Given the description of an element on the screen output the (x, y) to click on. 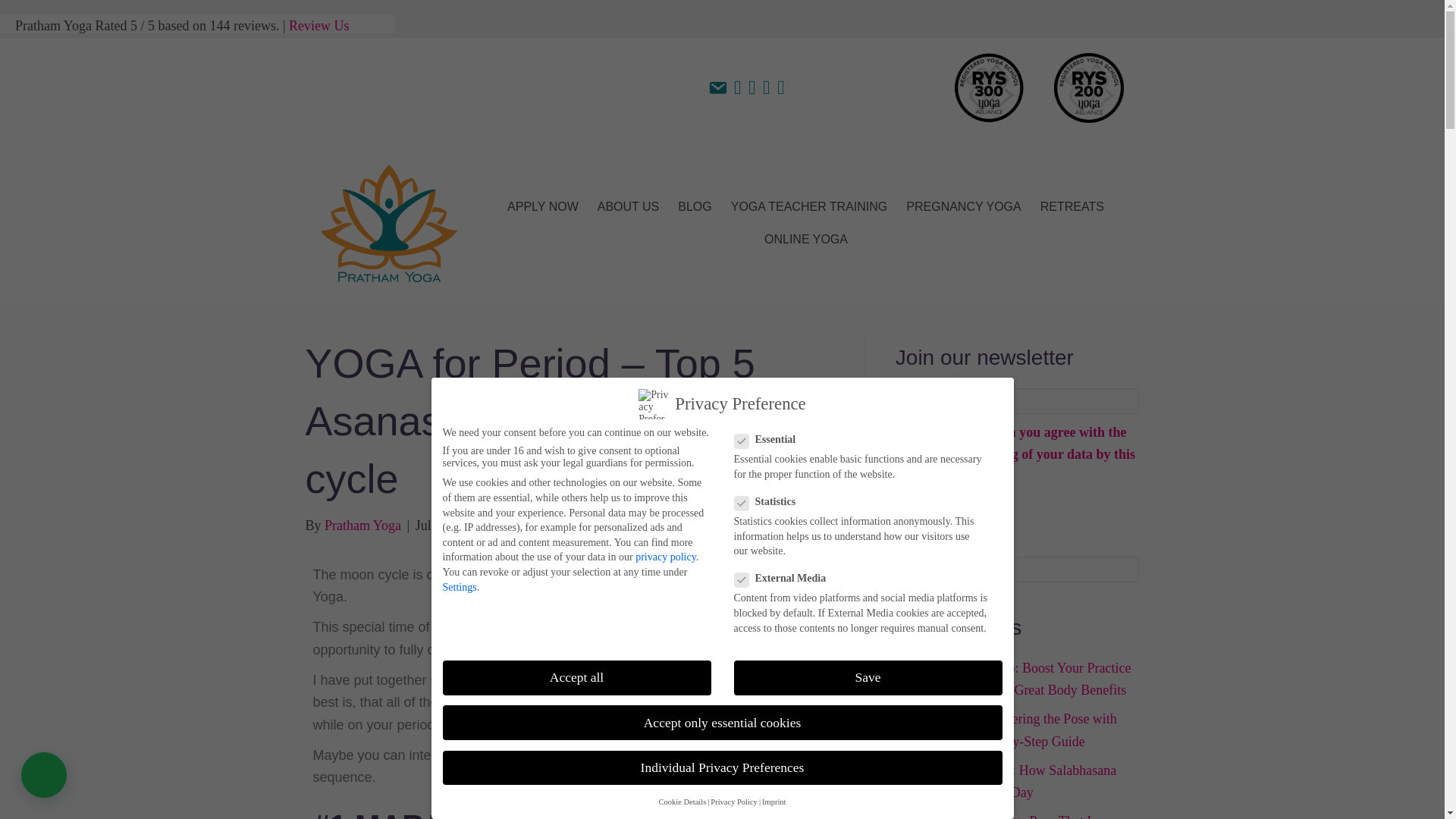
Sign up (921, 513)
BLOG (694, 206)
pratham-logo-340 (388, 223)
Sign up (921, 513)
RETREATS (1071, 206)
Type and press Enter to search. (1017, 569)
registered-yoga-school-210 (1089, 87)
Search (1017, 569)
PREGNANCY YOGA (962, 206)
